Given the description of an element on the screen output the (x, y) to click on. 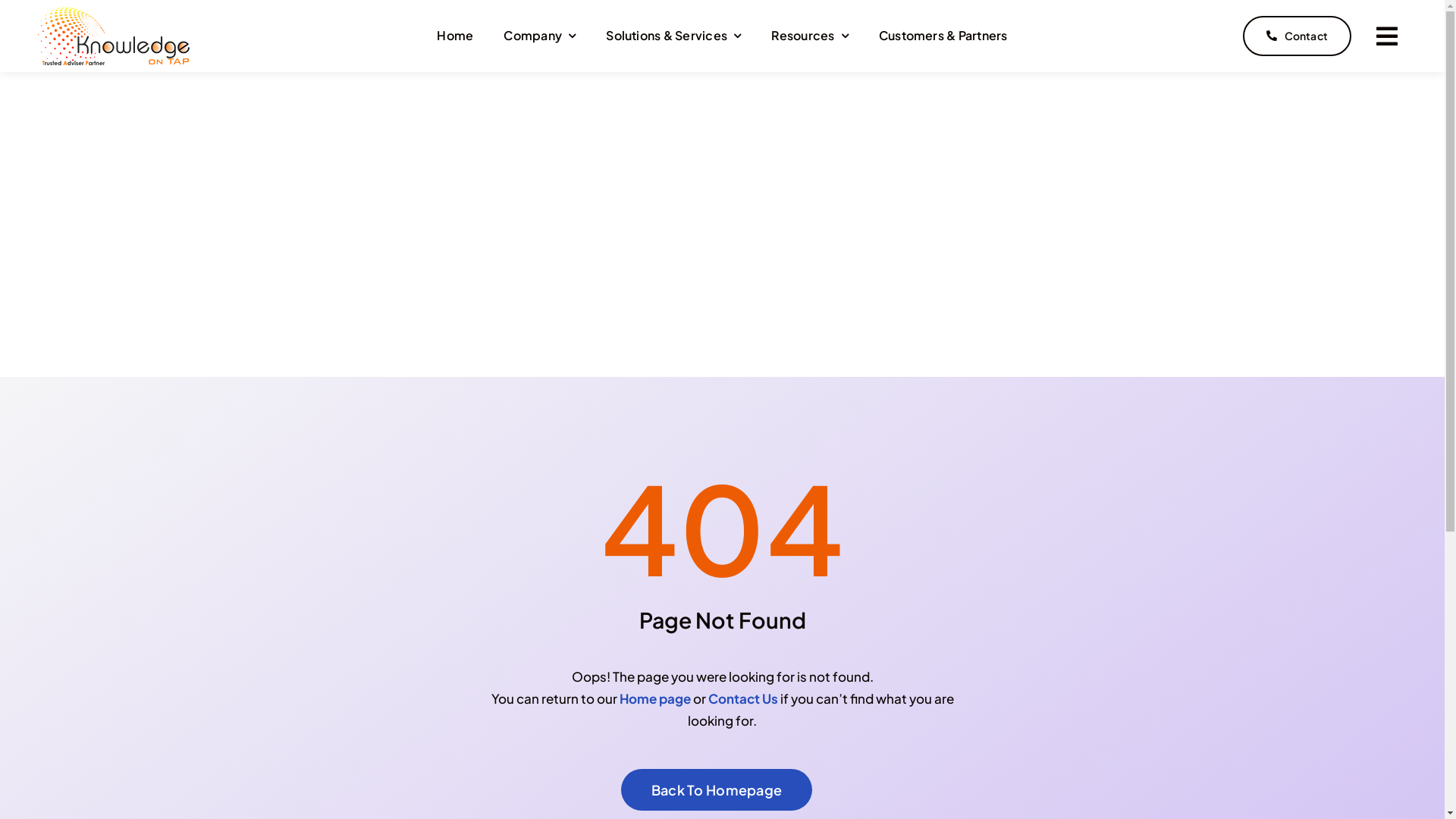
Back To Homepage Element type: text (716, 789)
Customers & Partners Element type: text (942, 35)
Contact Element type: text (1296, 35)
Solutions & Services Element type: text (672, 35)
Home page Element type: text (654, 698)
Resources Element type: text (809, 35)
Home Element type: text (454, 35)
Company Element type: text (539, 35)
Contact Us Element type: text (743, 698)
